Given the description of an element on the screen output the (x, y) to click on. 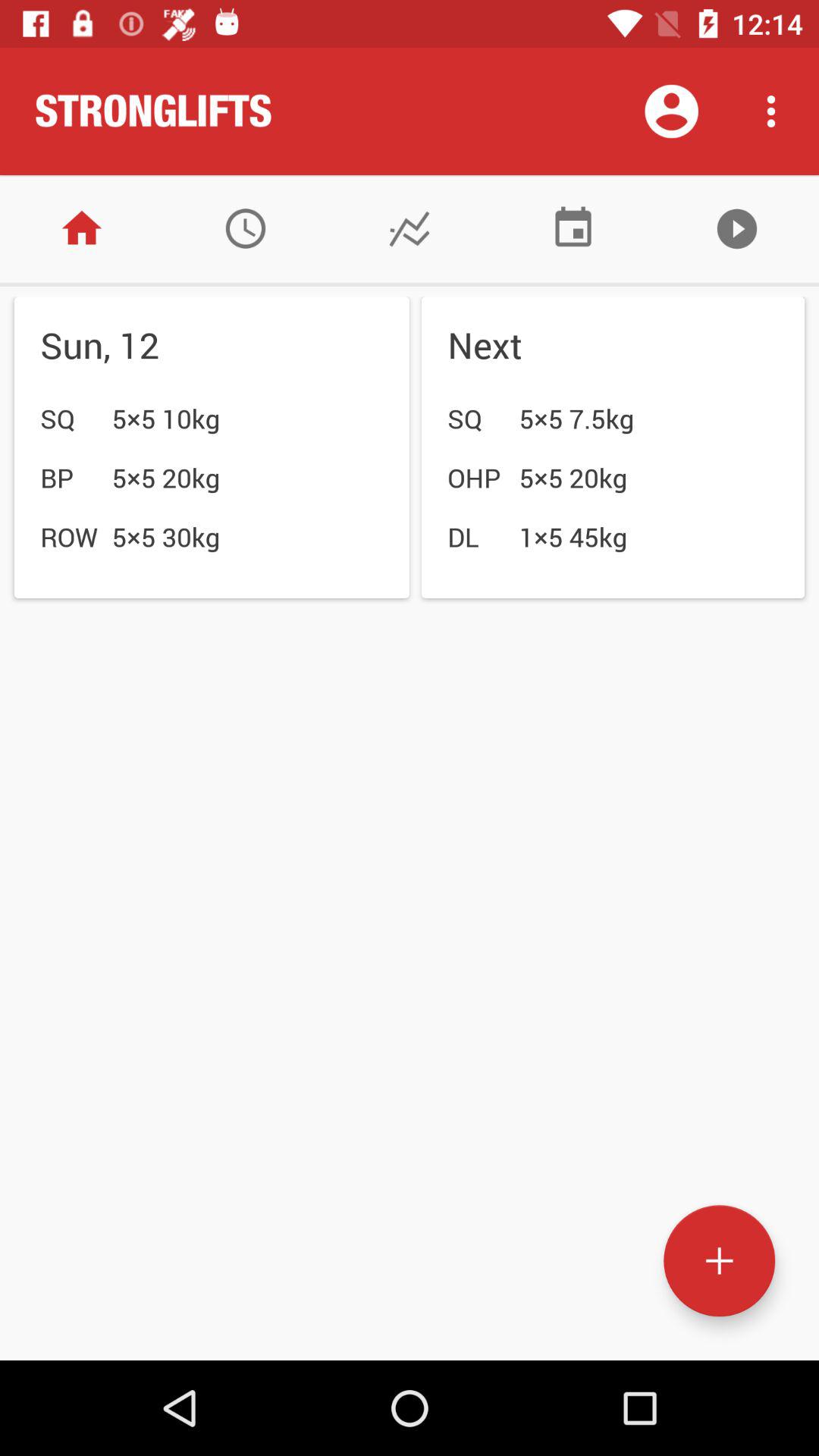
add element (719, 1260)
